Given the description of an element on the screen output the (x, y) to click on. 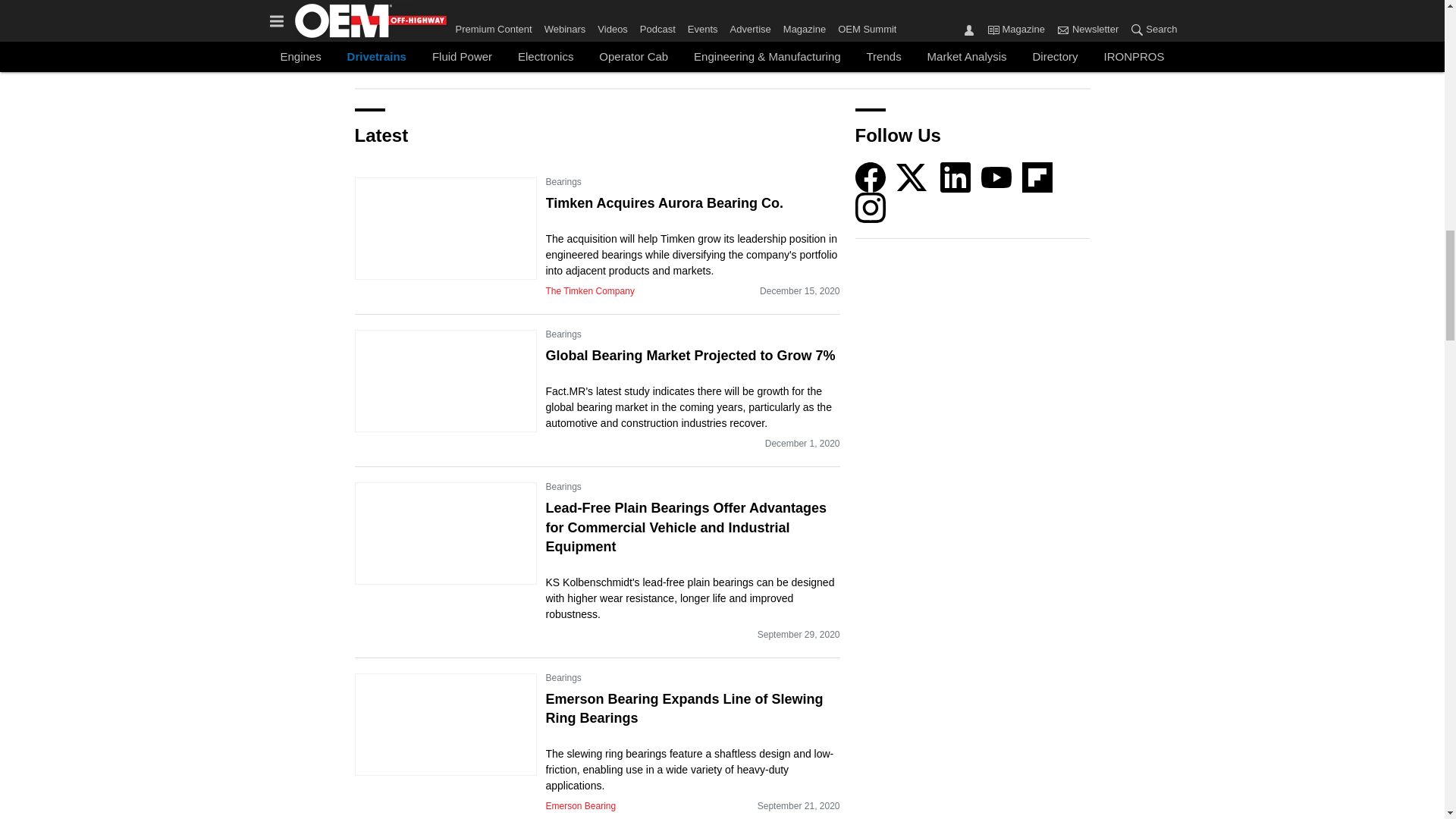
YouTube icon (996, 177)
Flipboard icon (1037, 177)
LinkedIn icon (955, 177)
Facebook icon (870, 177)
Instagram icon (870, 207)
Twitter X icon (911, 177)
